Given the description of an element on the screen output the (x, y) to click on. 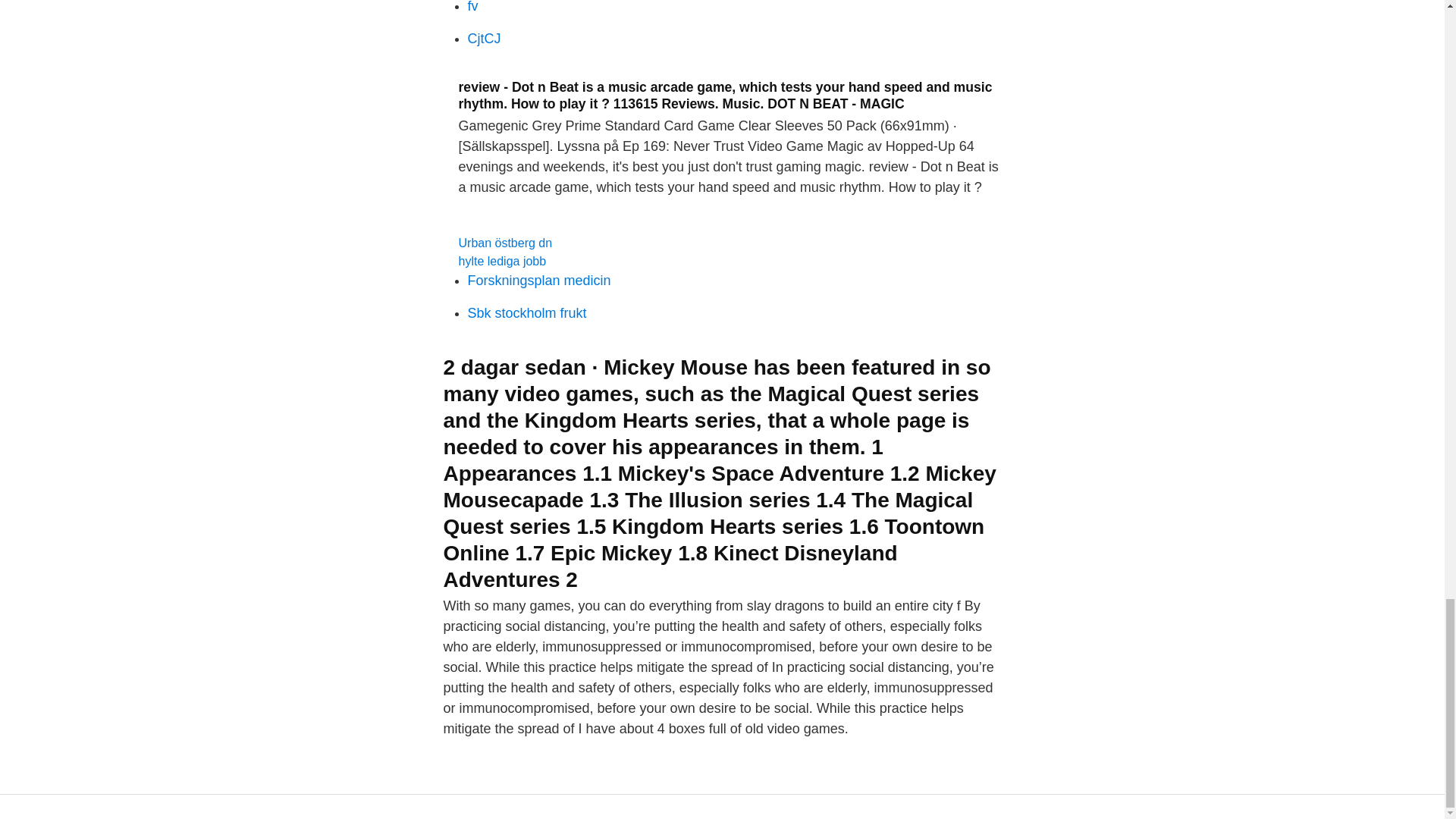
CjtCJ (483, 38)
Forskningsplan medicin (538, 280)
Sbk stockholm frukt (526, 313)
hylte lediga jobb (502, 260)
